Given the description of an element on the screen output the (x, y) to click on. 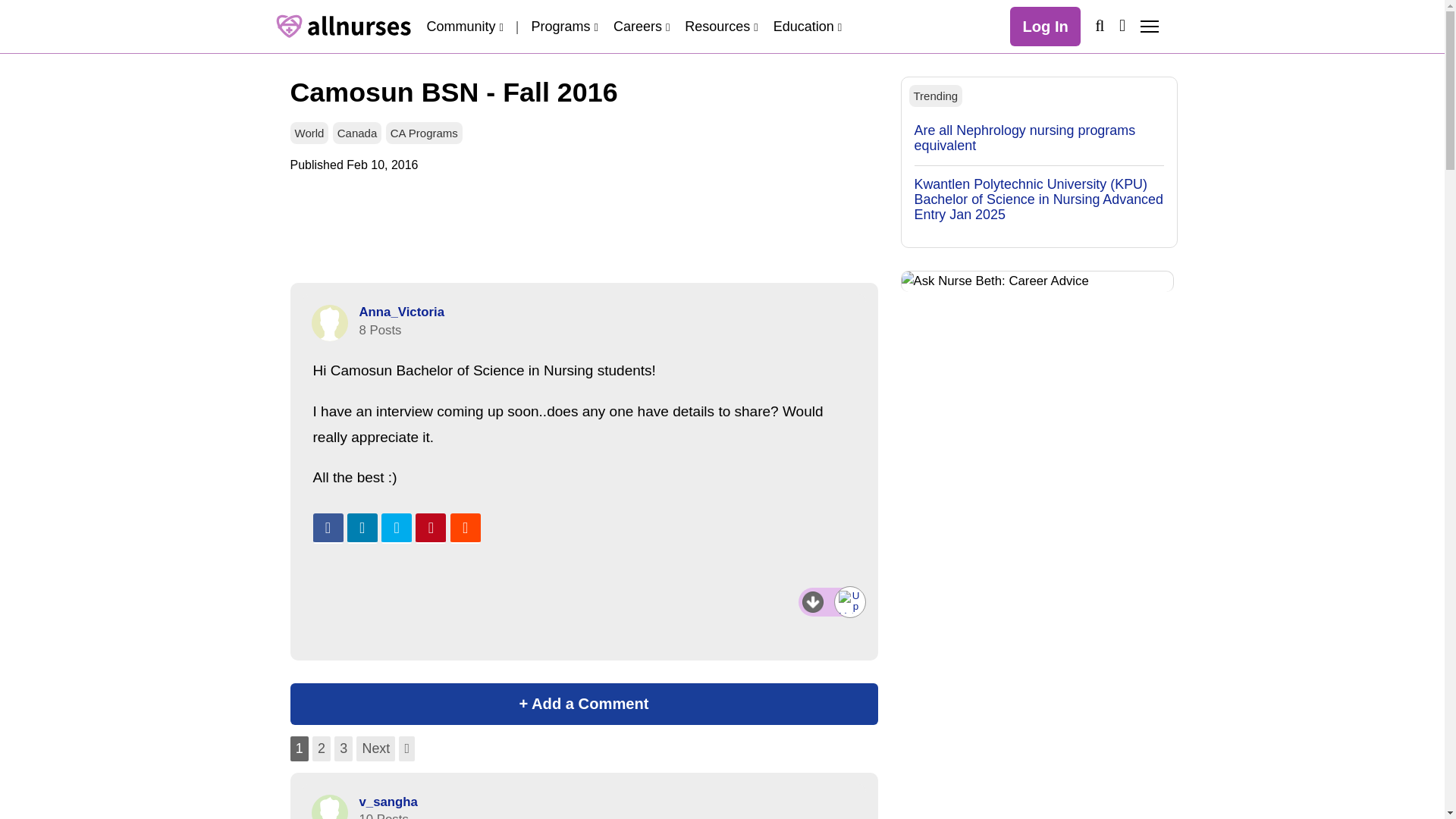
Share on Twitter (396, 528)
Next page (375, 748)
Share on Pinterest (429, 528)
Programs (564, 26)
Community (465, 26)
Up-to-date information on nursing programs in the U.S. (564, 26)
Share on Reddit (464, 528)
